Given the description of an element on the screen output the (x, y) to click on. 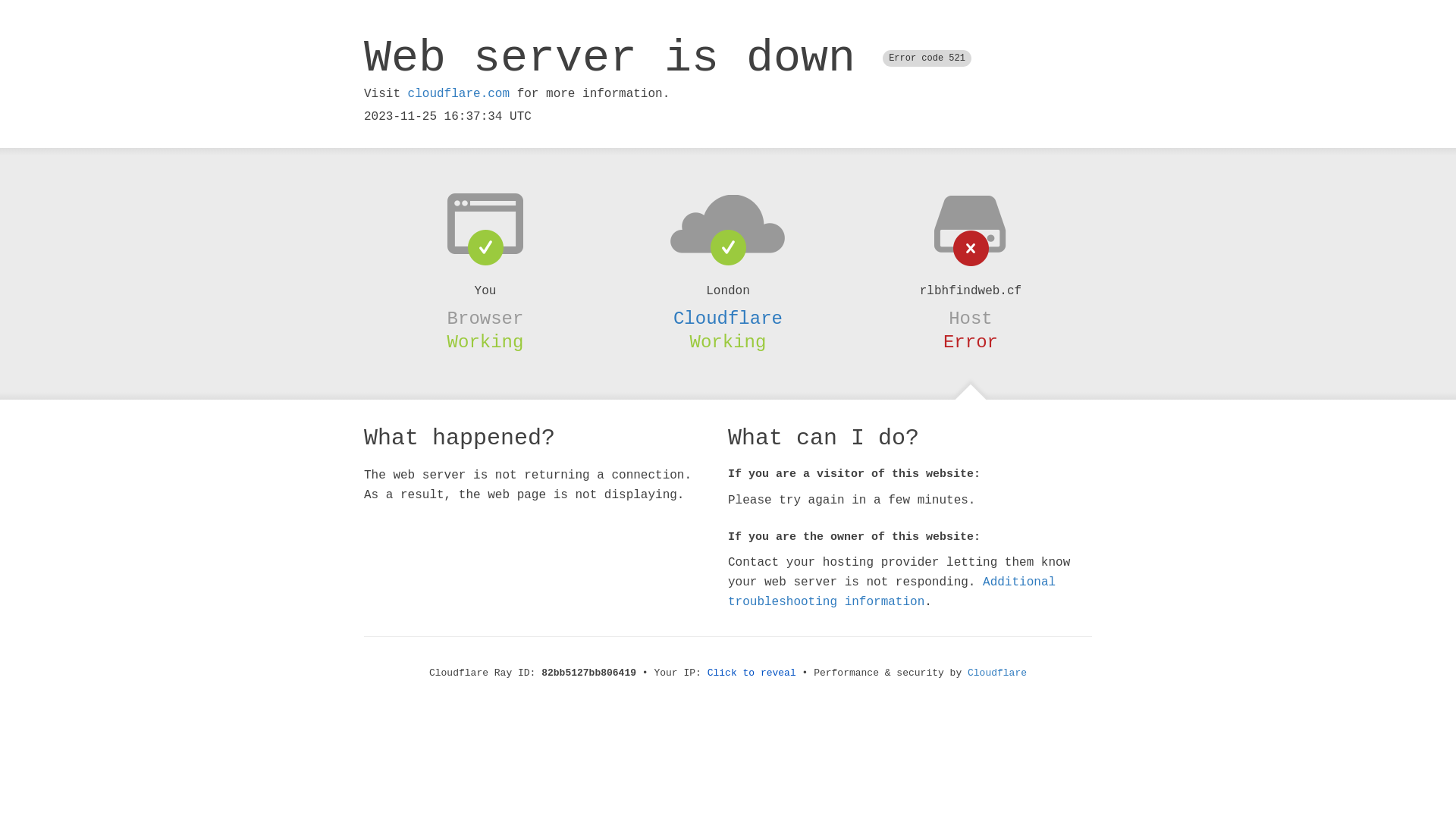
Click to reveal Element type: text (751, 672)
Cloudflare Element type: text (727, 318)
Additional troubleshooting information Element type: text (891, 591)
cloudflare.com Element type: text (458, 93)
Cloudflare Element type: text (996, 672)
